Given the description of an element on the screen output the (x, y) to click on. 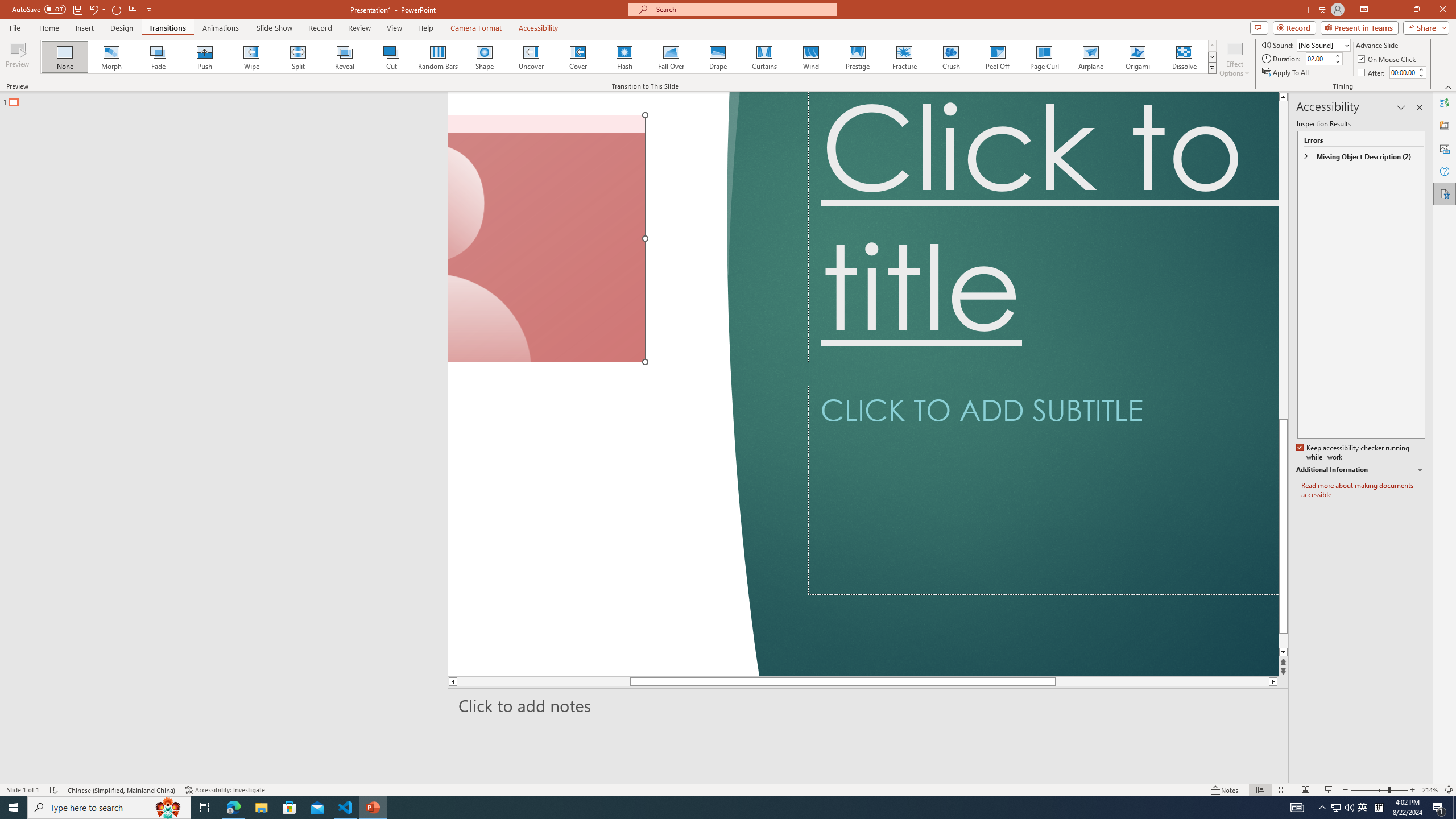
After (1372, 72)
Duration (1319, 58)
